Given the description of an element on the screen output the (x, y) to click on. 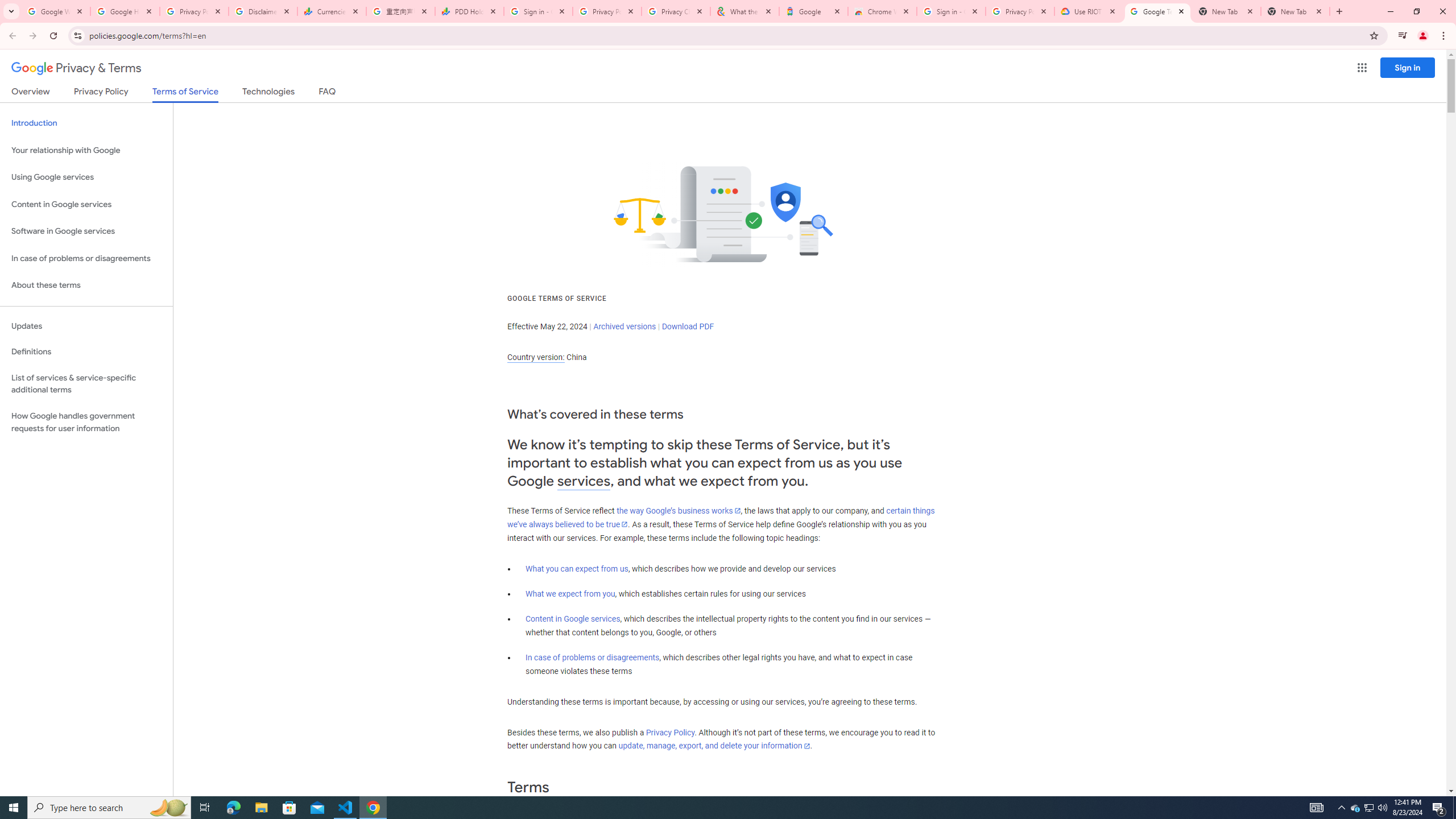
Content in Google services (572, 618)
In case of problems or disagreements (592, 657)
How Google handles government requests for user information (86, 422)
Google Workspace Admin Community (56, 11)
Introduction (86, 122)
List of services & service-specific additional terms (86, 383)
